Given the description of an element on the screen output the (x, y) to click on. 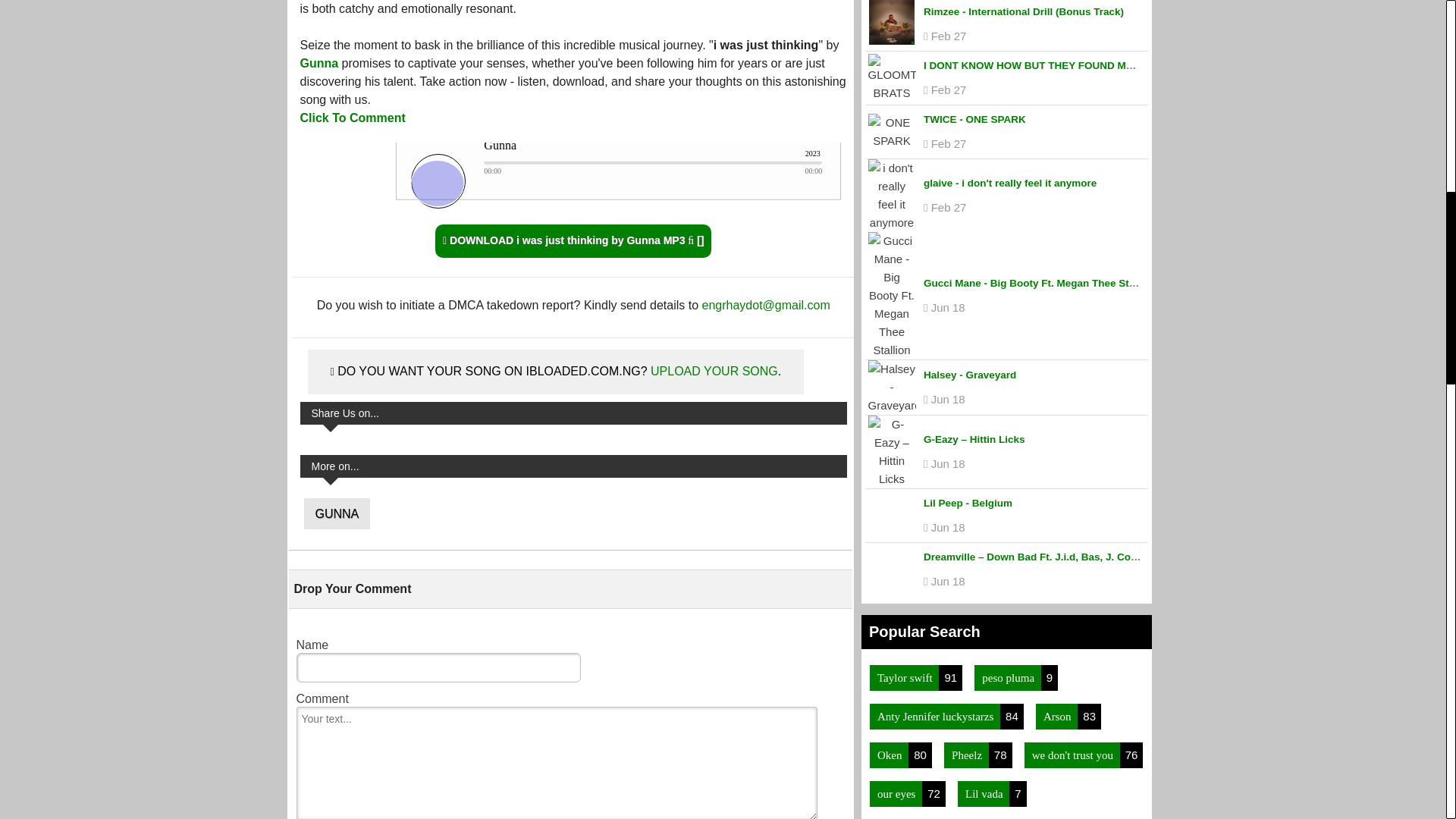
Gunna (319, 62)
Music Player (573, 179)
